Given the description of an element on the screen output the (x, y) to click on. 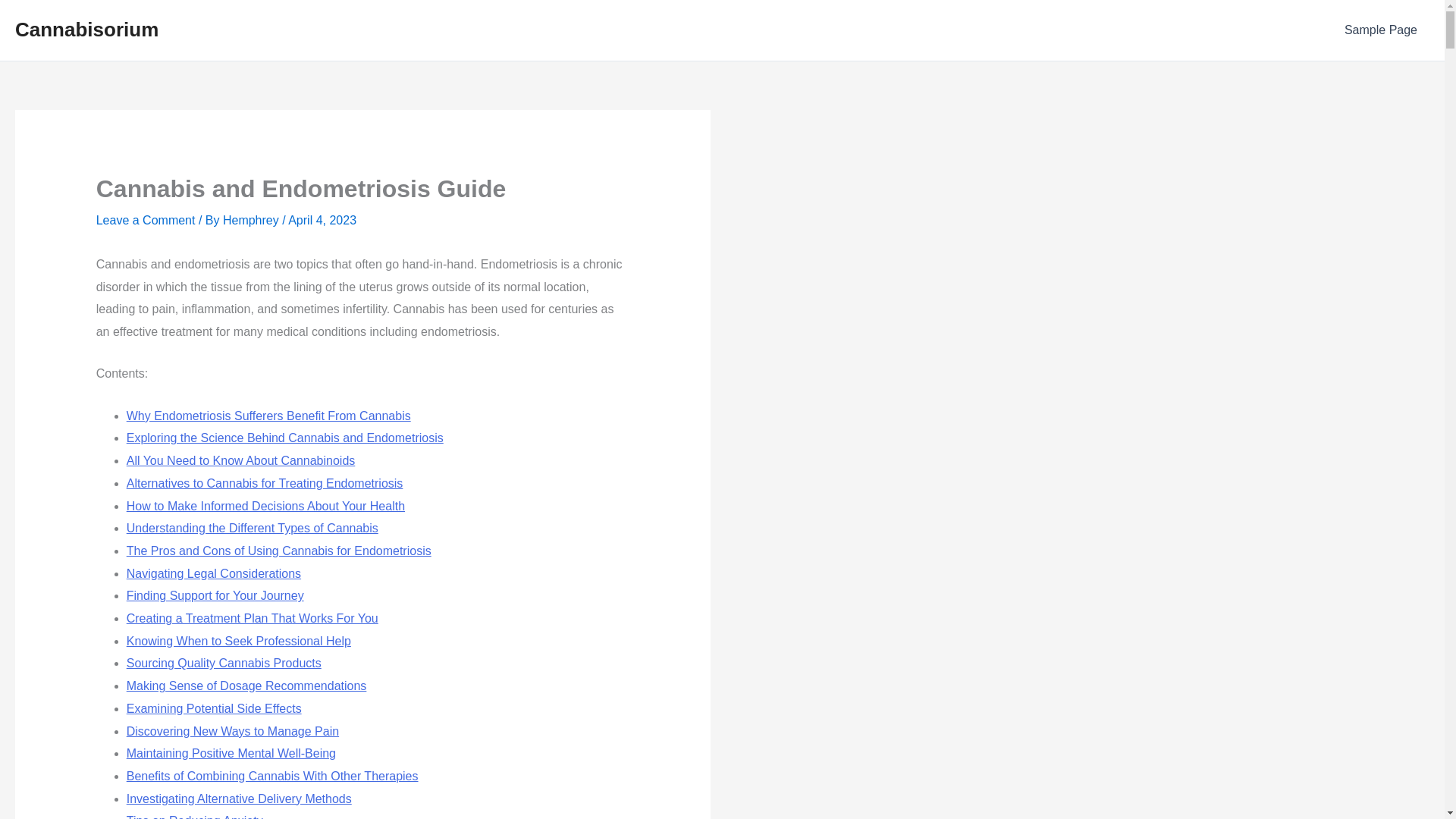
The Pros and Cons of Using Cannabis for Endometriosis (278, 550)
Making Sense of Dosage Recommendations (246, 685)
Finding Support for Your Journey (215, 594)
Navigating Legal Considerations (213, 573)
Creating a Treatment Plan That Works For You (252, 617)
All You Need to Know About Cannabinoids (240, 460)
Maintaining Positive Mental Well-Being (231, 753)
Examining Potential Side Effects (213, 707)
How to Make Informed Decisions About Your Health (265, 505)
Understanding the Different Types of Cannabis (252, 527)
